Given the description of an element on the screen output the (x, y) to click on. 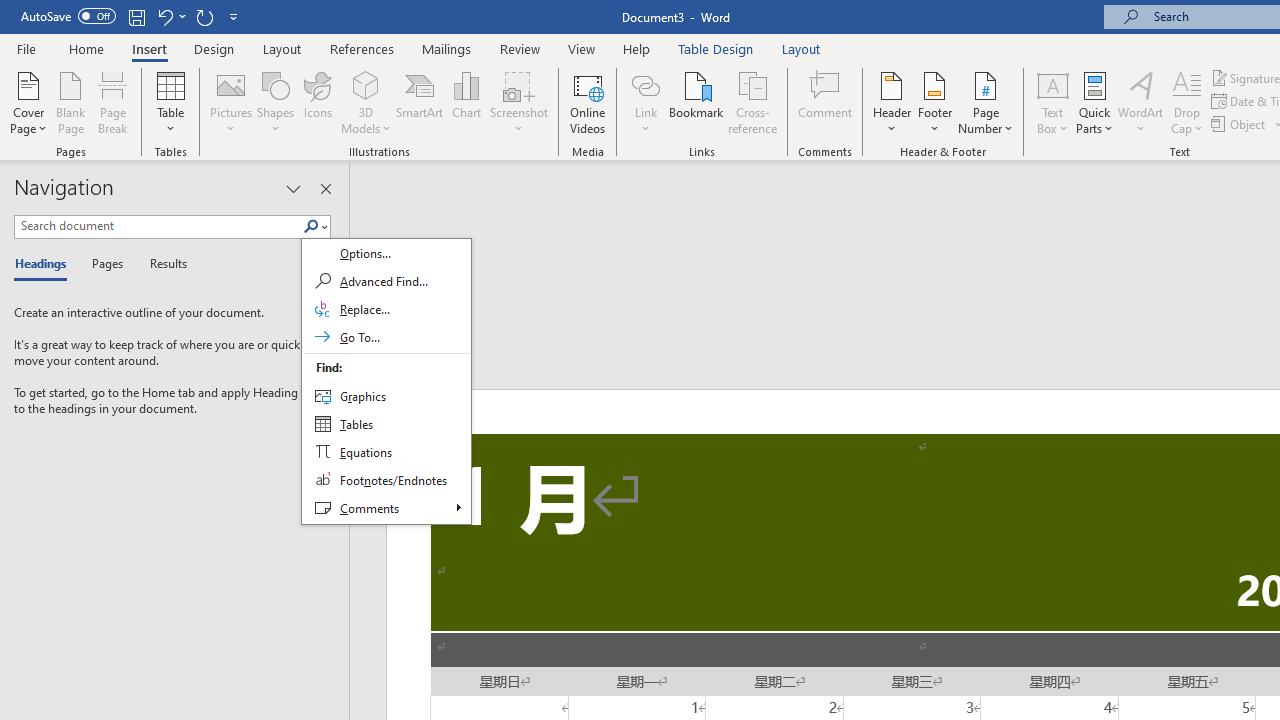
Footer (934, 102)
Page Number (986, 102)
Header (891, 102)
WordArt (1141, 102)
